Given the description of an element on the screen output the (x, y) to click on. 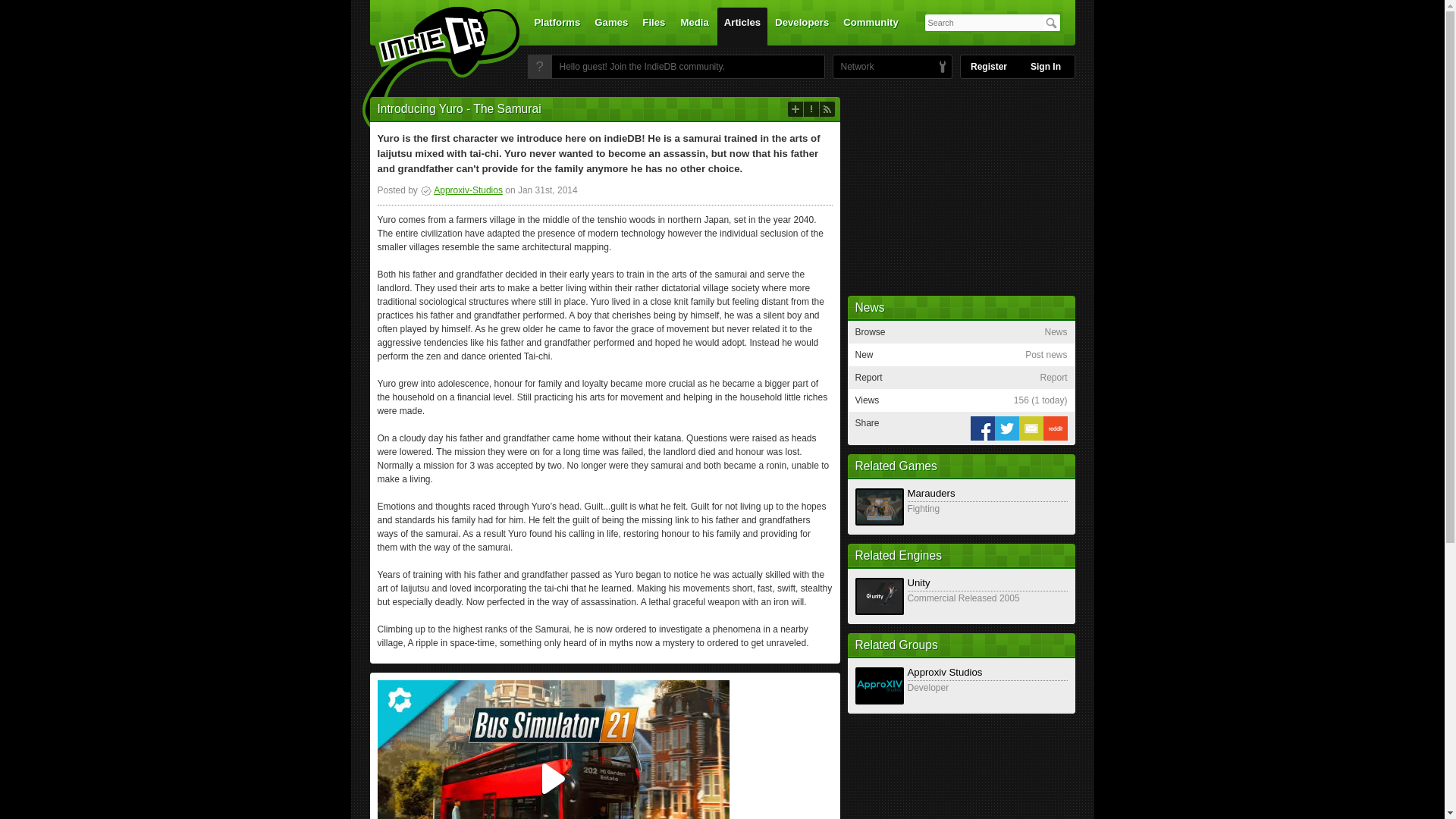
Home (430, 70)
DBolical (852, 66)
Articles (742, 26)
RSS (826, 109)
Report (810, 109)
Search IndieDB (1050, 22)
Files (652, 26)
Search (1050, 22)
Article Manager (461, 190)
